Given the description of an element on the screen output the (x, y) to click on. 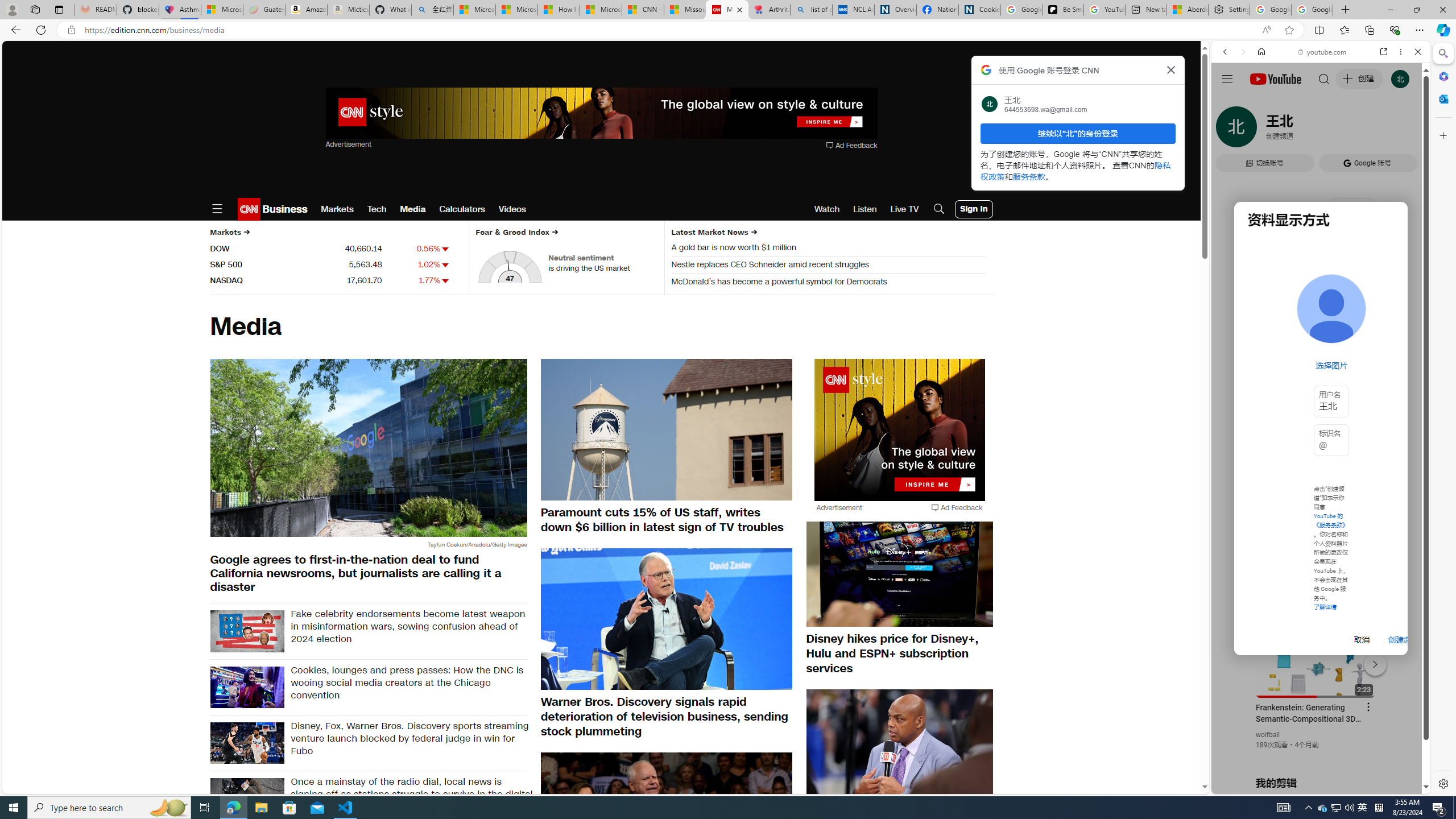
Show More Music (1390, 310)
Click to scroll right (1407, 456)
AutomationID: fear-and-greed-dial (510, 265)
Tech (376, 209)
Cookies (979, 9)
Open Menu Icon (216, 208)
